Given the description of an element on the screen output the (x, y) to click on. 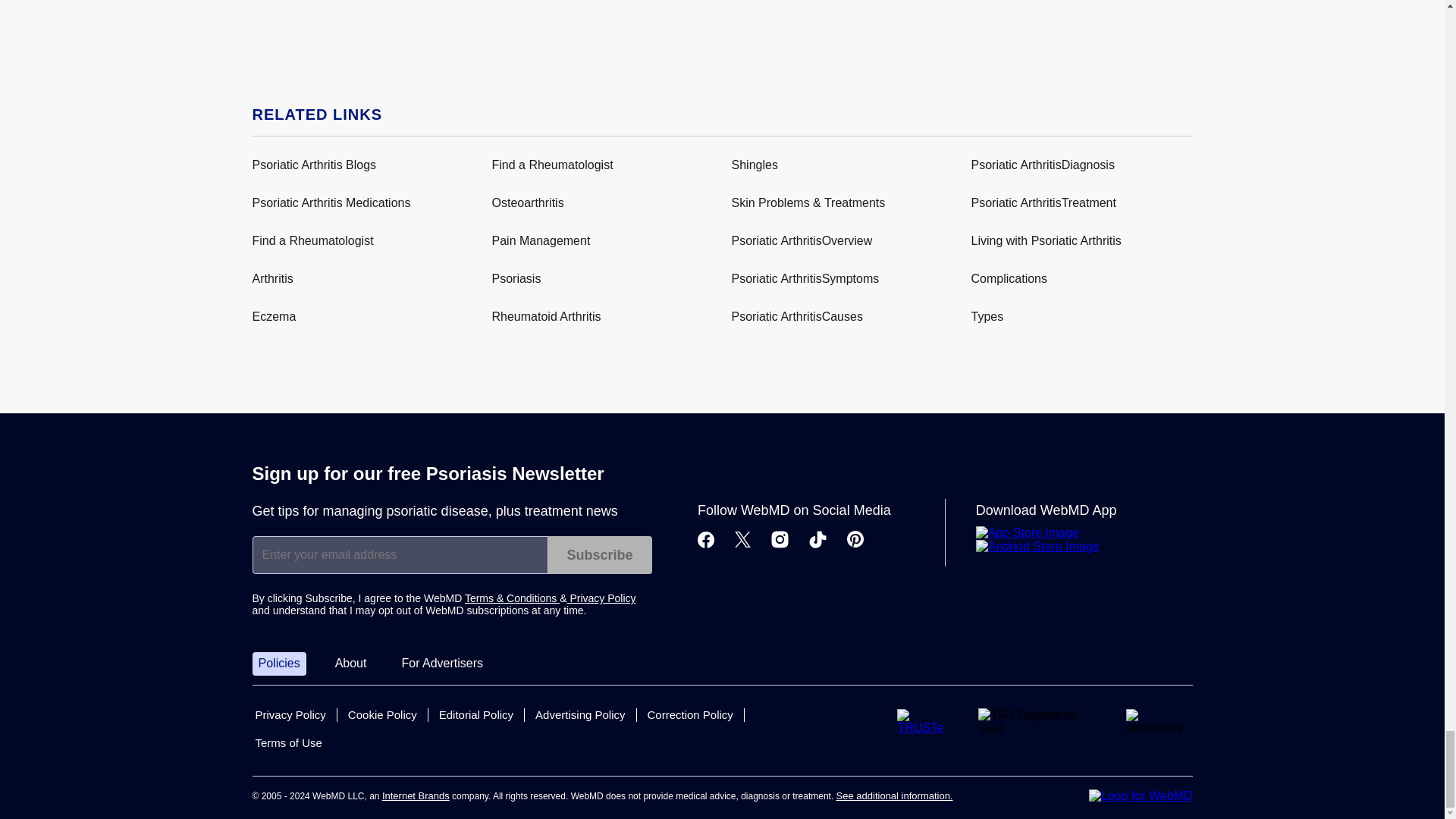
TAG Registered Seal (1039, 722)
TRUSTe Privacy Certification (924, 721)
Adchoices (1158, 721)
WebMD: Better information. Better health. (1140, 796)
